Given the description of an element on the screen output the (x, y) to click on. 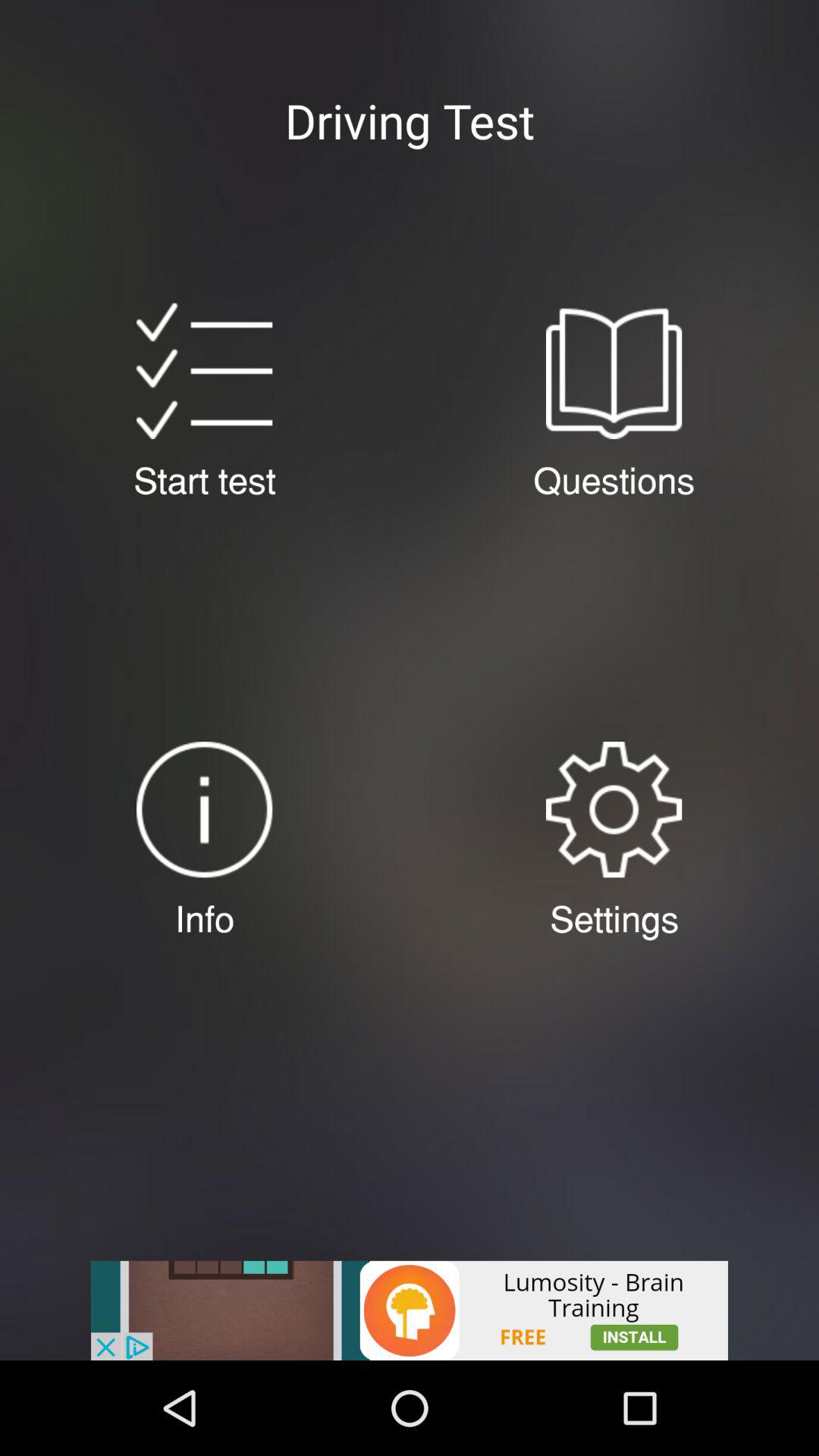
go to start test screen (204, 371)
